Given the description of an element on the screen output the (x, y) to click on. 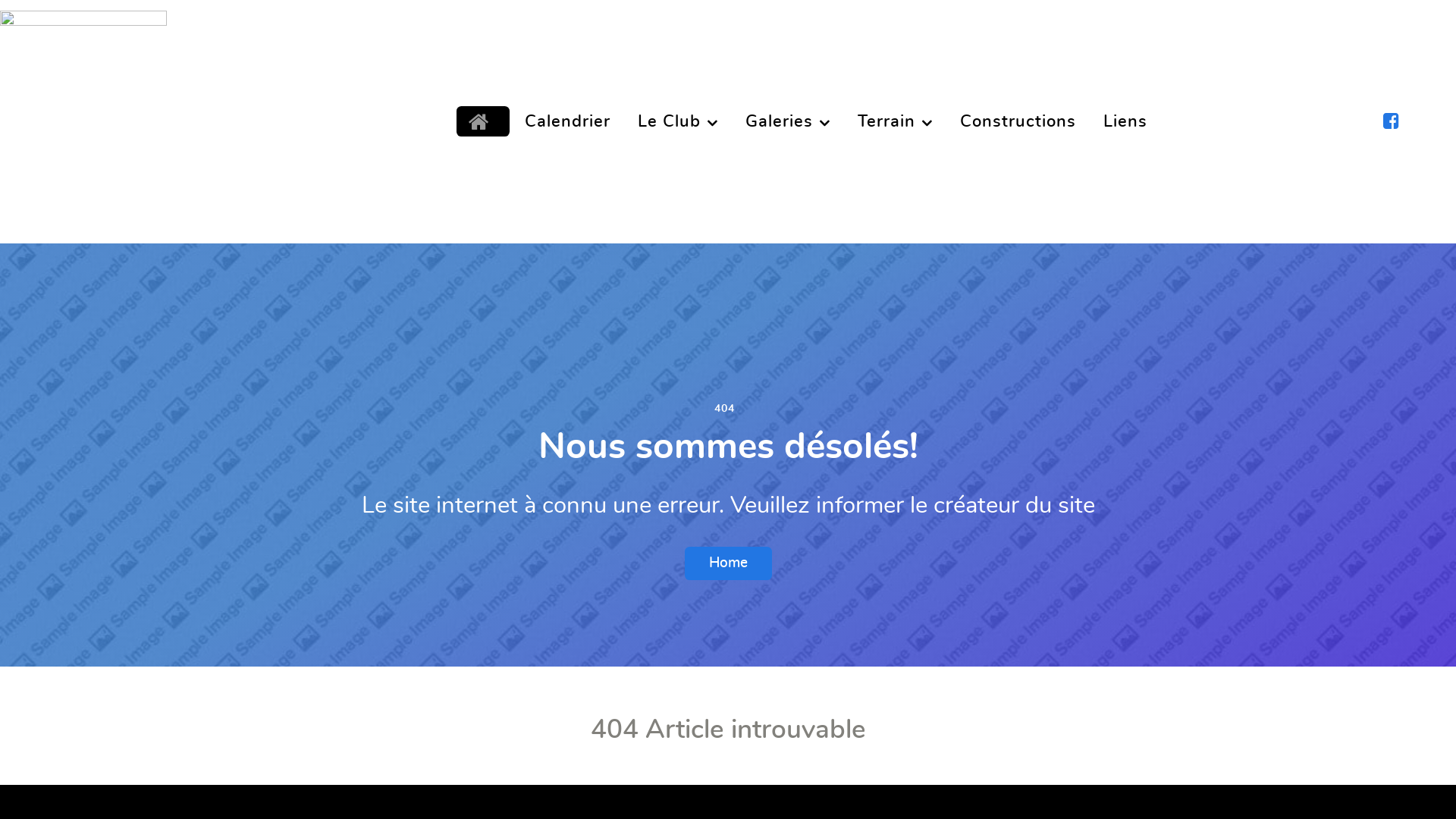
Liens Element type: text (1125, 120)
Calendrier Element type: text (567, 120)
Supra Element type: hover (116, 113)
Constructions Element type: text (1017, 120)
Accueil Element type: hover (482, 121)
Home Element type: text (727, 562)
